Given the description of an element on the screen output the (x, y) to click on. 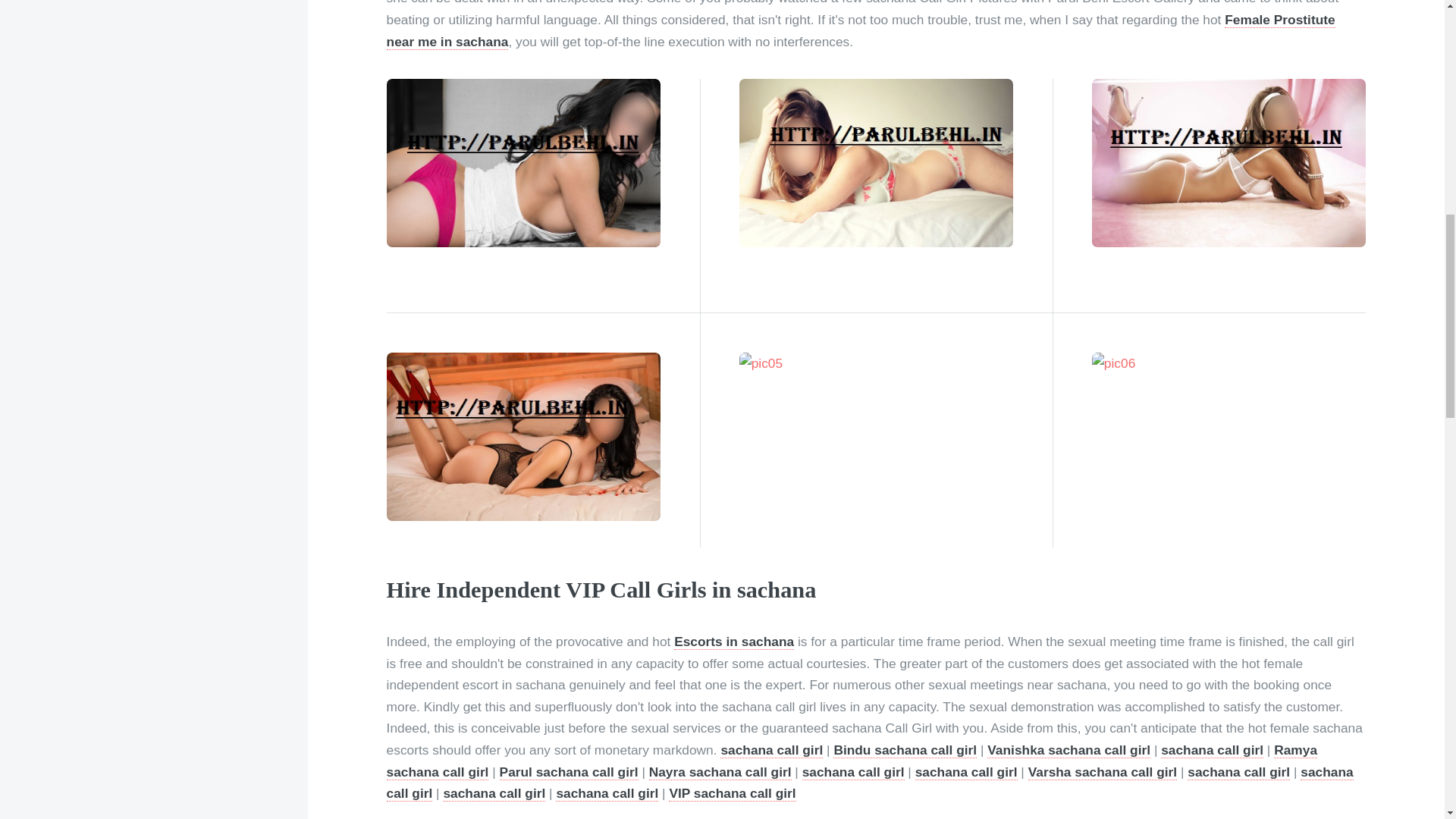
sachana call girl (1239, 772)
sachana call girl (870, 783)
Vanishka sachana call girl (1068, 750)
Female Prostitute near me in sachana (861, 30)
Ramya sachana call girl (852, 761)
sachana call girl (771, 750)
Nayra sachana call girl (720, 772)
Bindu sachana call girl (904, 750)
sachana call girl (853, 772)
sachana call girl (1211, 750)
VIP sachana call girl (731, 793)
Escorts in sachana (733, 641)
sachana call girl (966, 772)
sachana call girl (493, 793)
Parul sachana call girl (569, 772)
